Given the description of an element on the screen output the (x, y) to click on. 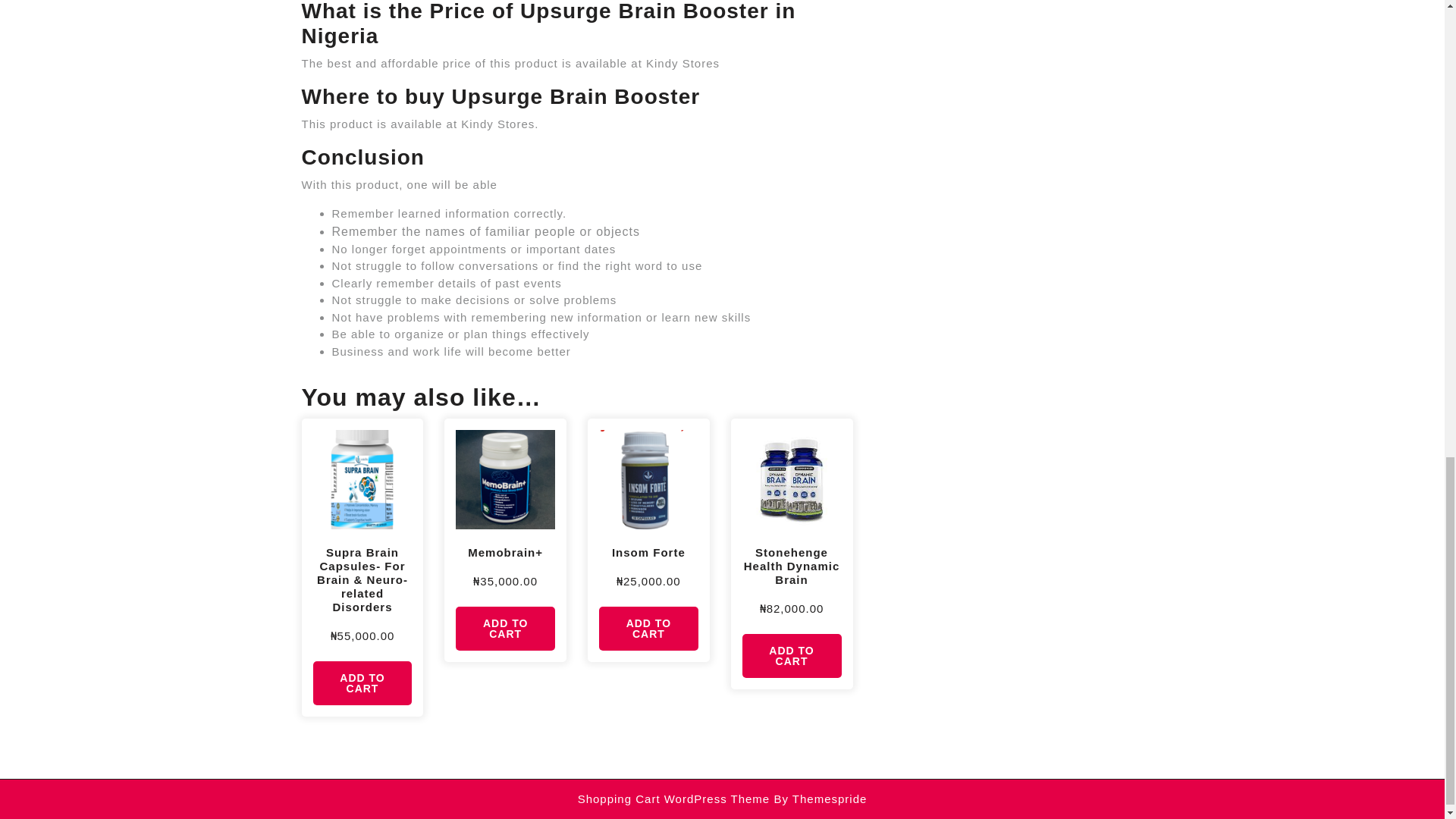
ADD TO CART (504, 628)
Shopping Cart WordPress Theme (674, 798)
ADD TO CART (362, 682)
ADD TO CART (648, 628)
ADD TO CART (791, 655)
